Given the description of an element on the screen output the (x, y) to click on. 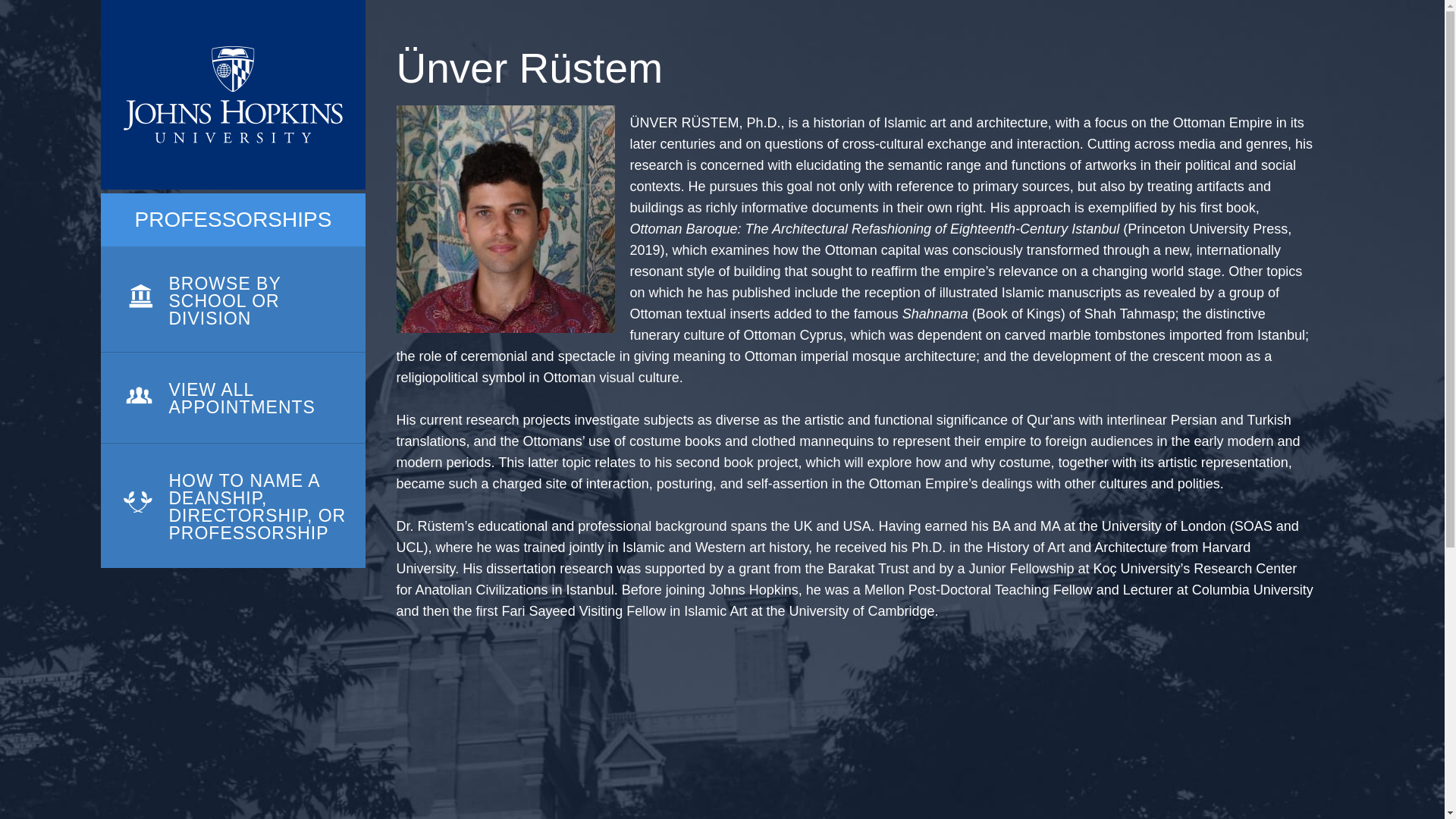
PROFESSORSHIPS (233, 219)
HOW TO NAME A DEANSHIP, DIRECTORSHIP, OR PROFESSORSHIP (232, 505)
JHU Professorships (232, 94)
VIEW ALL APPOINTMENTS (232, 397)
BROWSE BY SCHOOL OR DIVISION (232, 299)
